Given the description of an element on the screen output the (x, y) to click on. 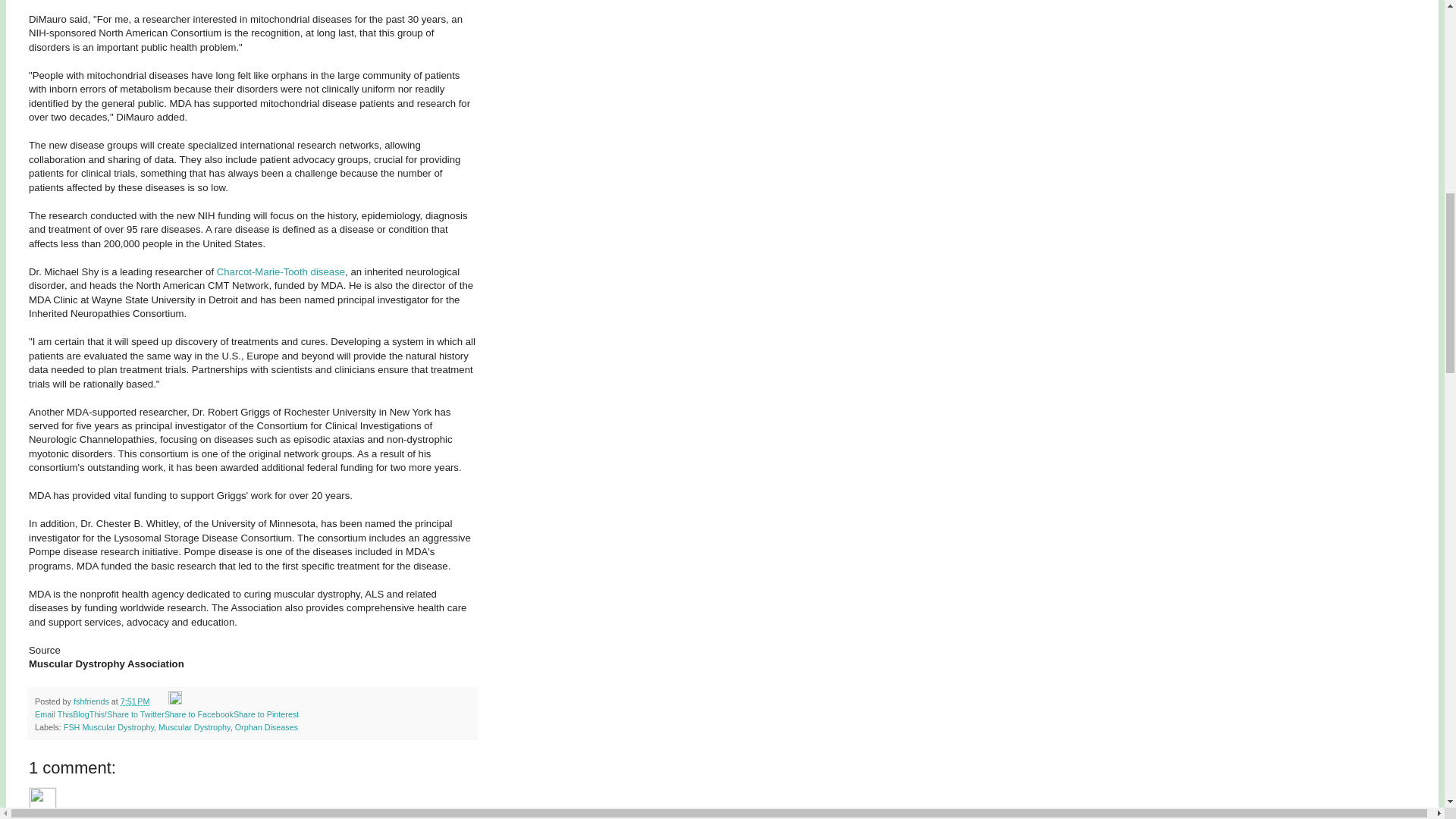
Share to Pinterest (265, 714)
fshfriends (93, 700)
Share to Pinterest (265, 714)
BlogThis! (89, 714)
Email This (53, 714)
BlogThis! (89, 714)
Share to Twitter (134, 714)
Share to Twitter (134, 714)
Email This (53, 714)
Email Post (160, 700)
Edit Post (175, 700)
Charcot-Marie-Tooth disease (280, 271)
Muscular Dystrophy (194, 727)
author profile (93, 700)
